Given the description of an element on the screen output the (x, y) to click on. 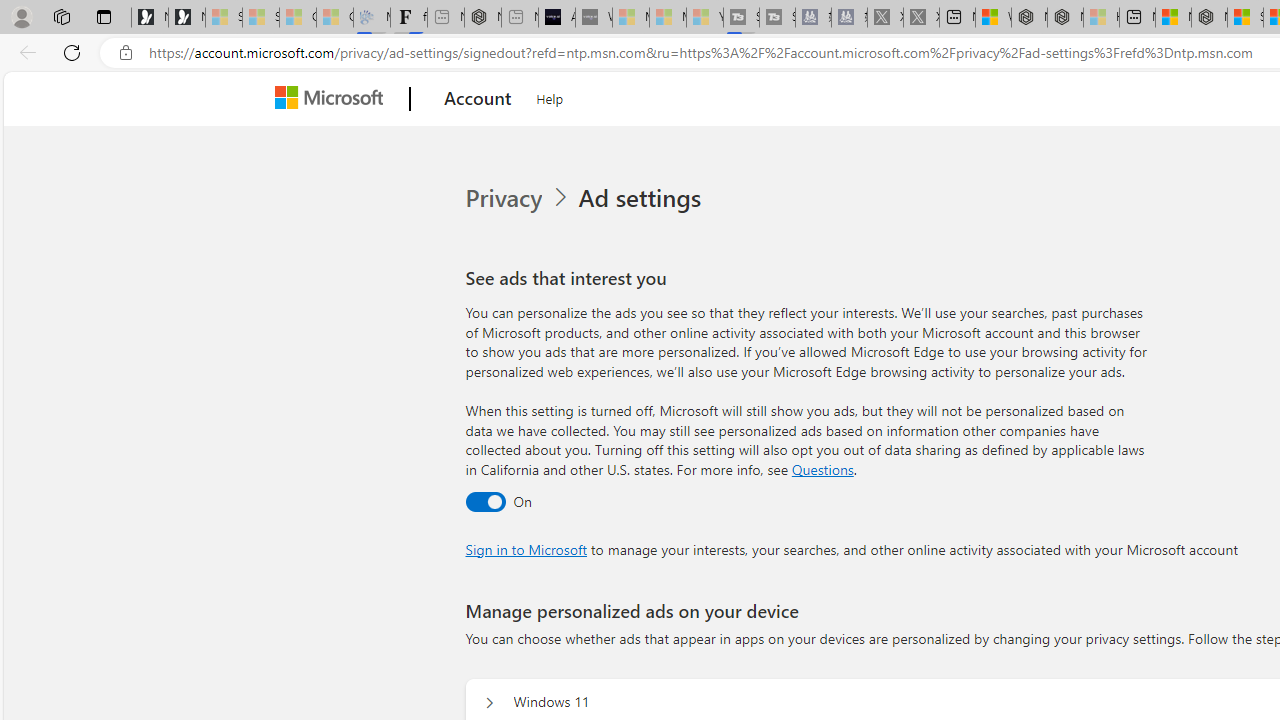
Nordace - Summer Adventures 2024 (1065, 17)
Privacy (505, 197)
Microsoft Start - Sleeping (668, 17)
X - Sleeping (921, 17)
Ad settings (643, 197)
Go to Questions section (822, 468)
Privacy (519, 197)
Sign in to Microsoft (525, 548)
